Given the description of an element on the screen output the (x, y) to click on. 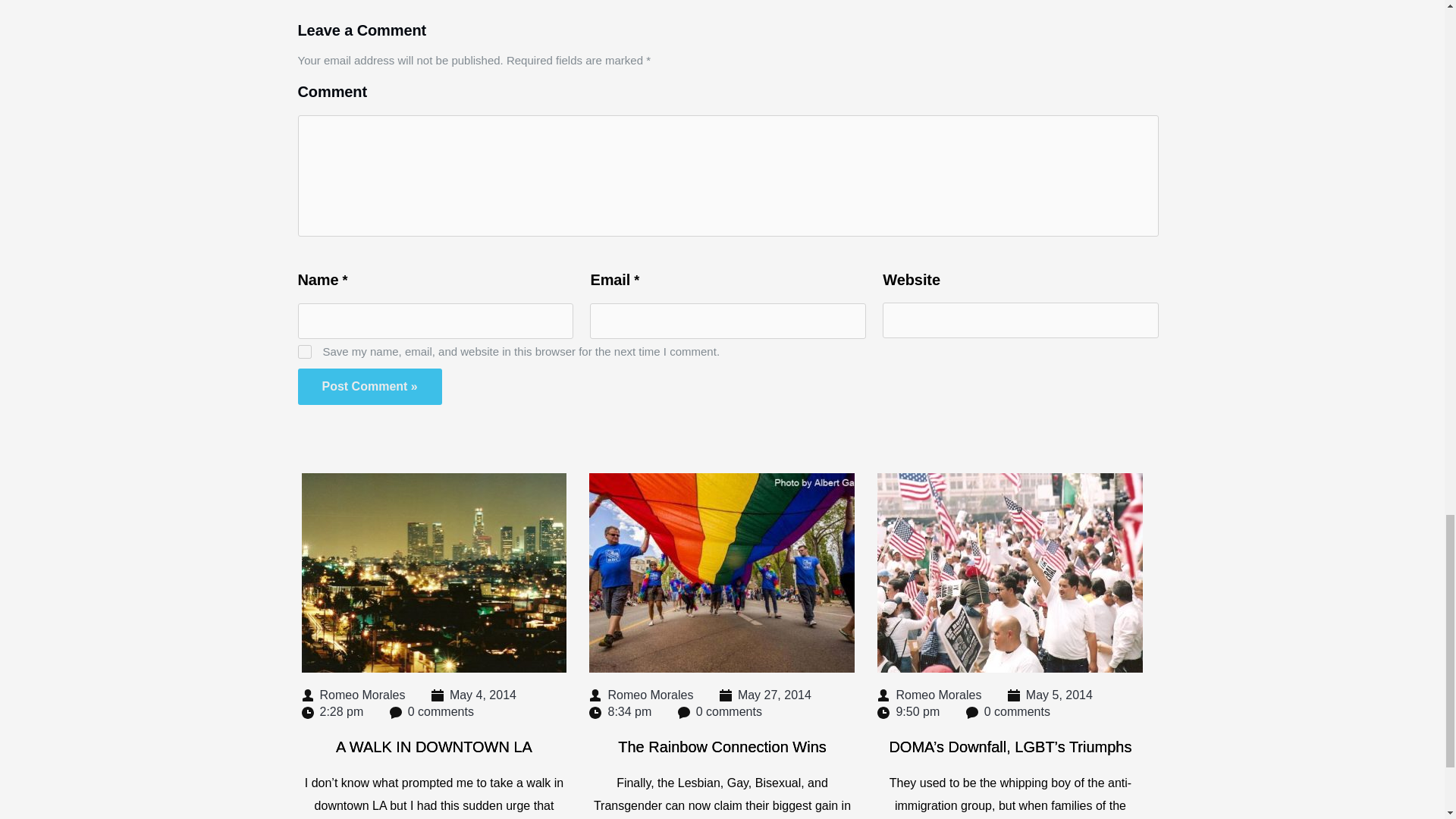
yes (304, 351)
